Given the description of an element on the screen output the (x, y) to click on. 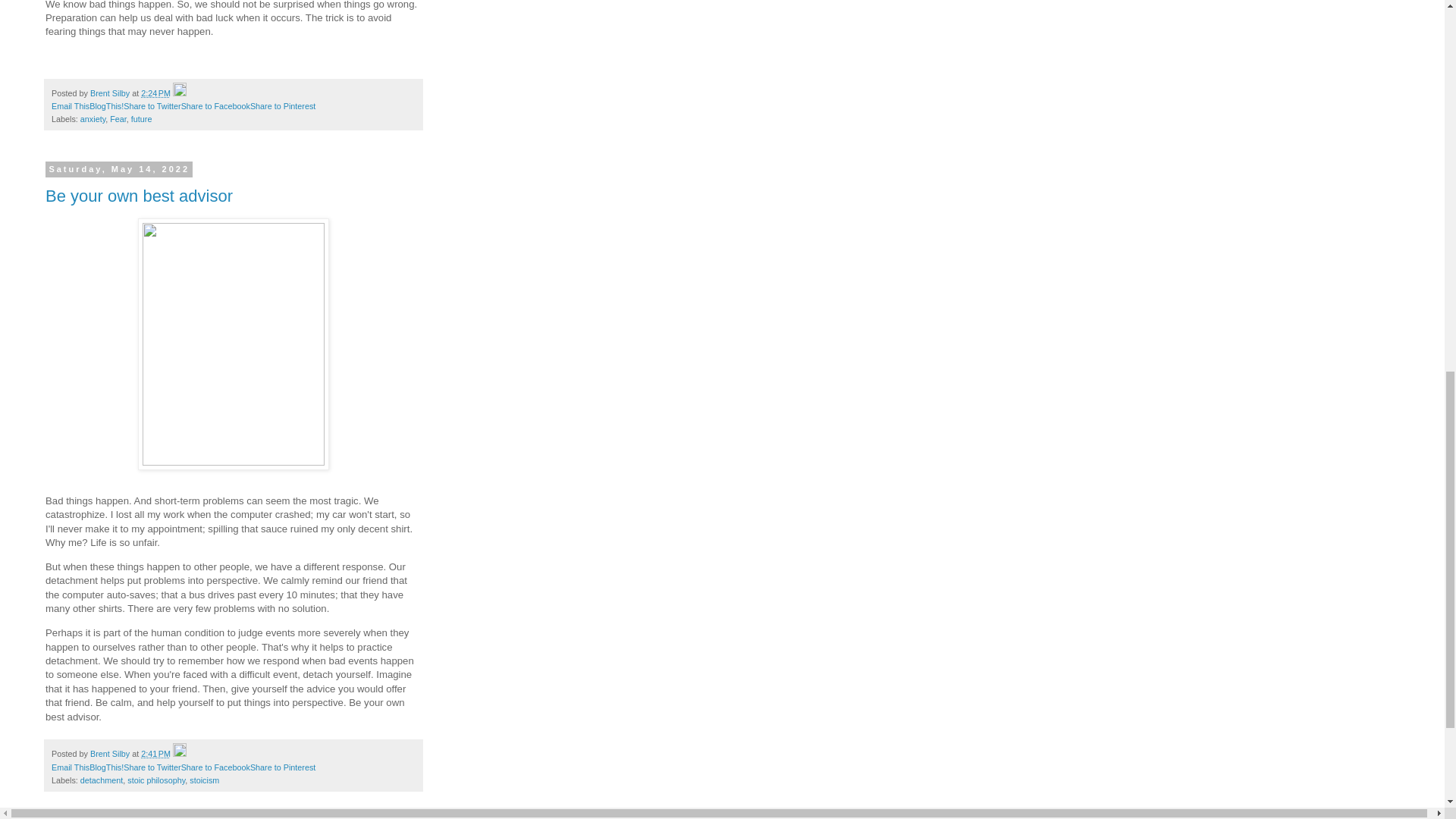
author profile (111, 753)
Share to Twitter (151, 767)
permanent link (155, 753)
Edit Post (179, 753)
Share to Pinterest (282, 767)
BlogThis! (105, 767)
Email This (69, 105)
BlogThis! (105, 105)
BlogThis! (105, 105)
Share to Twitter (151, 105)
future (141, 118)
Share to Twitter (151, 105)
author profile (111, 92)
